Given the description of an element on the screen output the (x, y) to click on. 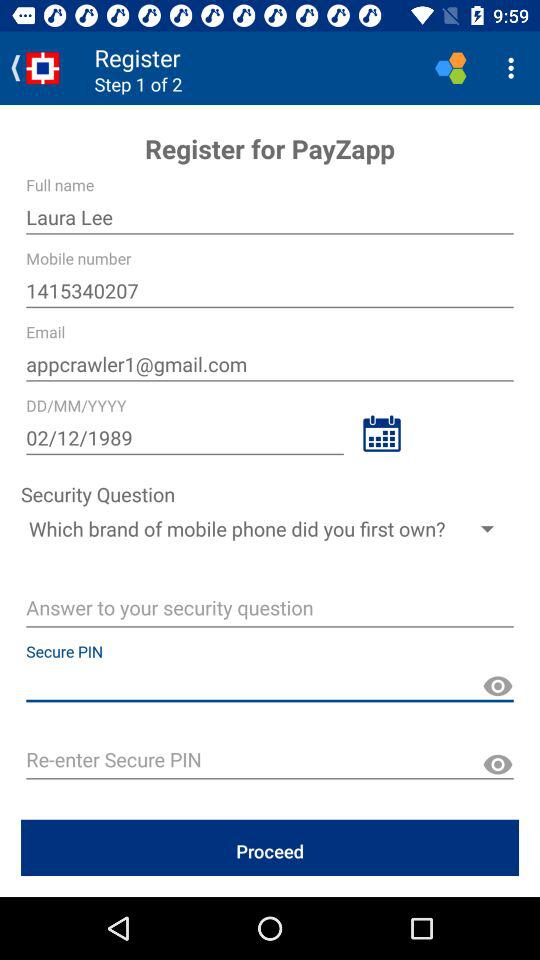
enter security question answer (270, 610)
